Given the description of an element on the screen output the (x, y) to click on. 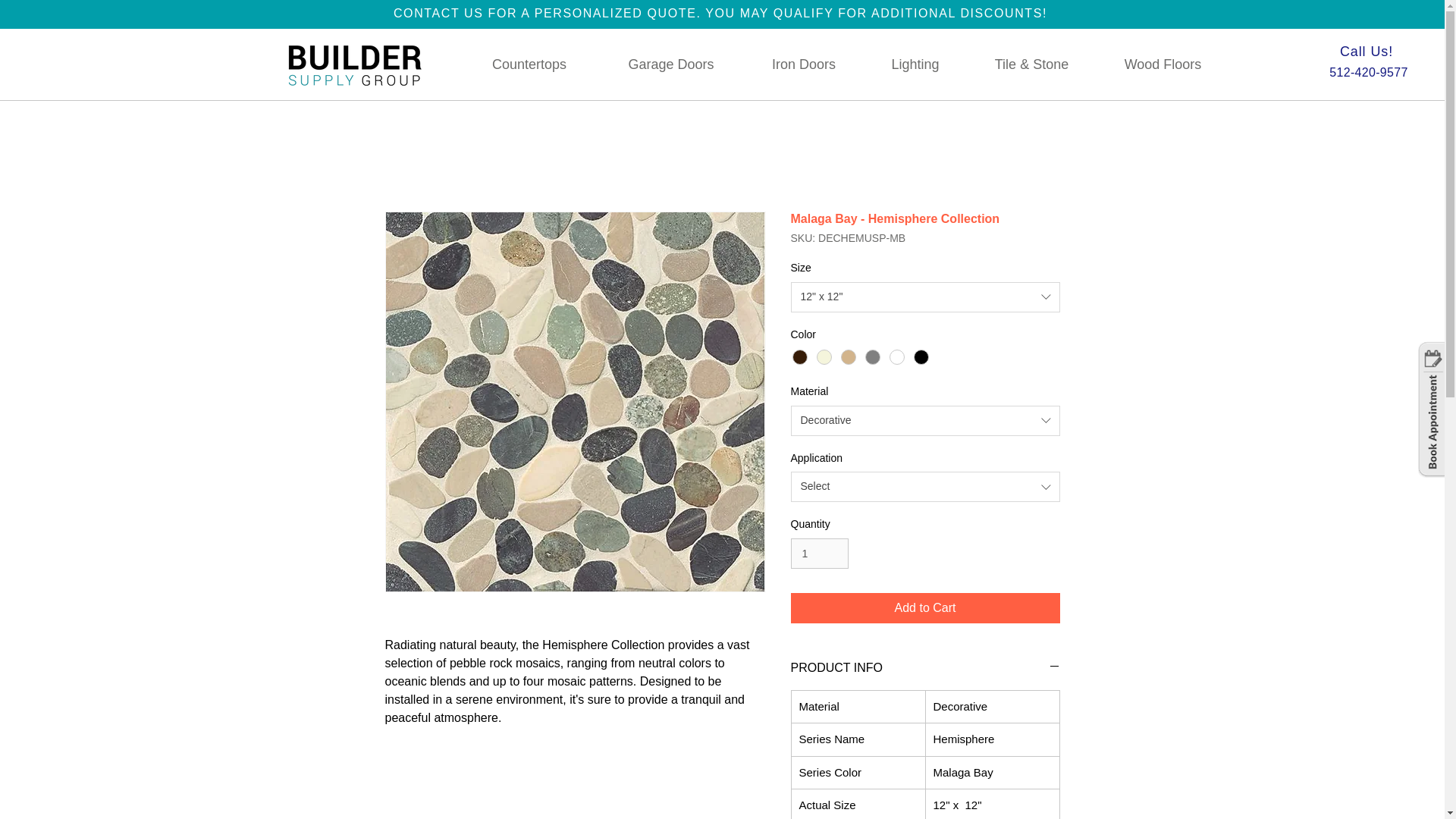
YOU MAY QUALIFY FOR ADDITIONAL DISCOUNTS! (875, 12)
Decorative (924, 420)
PRODUCT INFO (924, 668)
Countertops (529, 64)
Wood Floors (1163, 64)
1 (818, 553)
CONTACT US FOR A PERSONALIZED QUOTE.  (548, 12)
Add to Cart (924, 607)
Lighting (914, 64)
Select (924, 486)
